Given the description of an element on the screen output the (x, y) to click on. 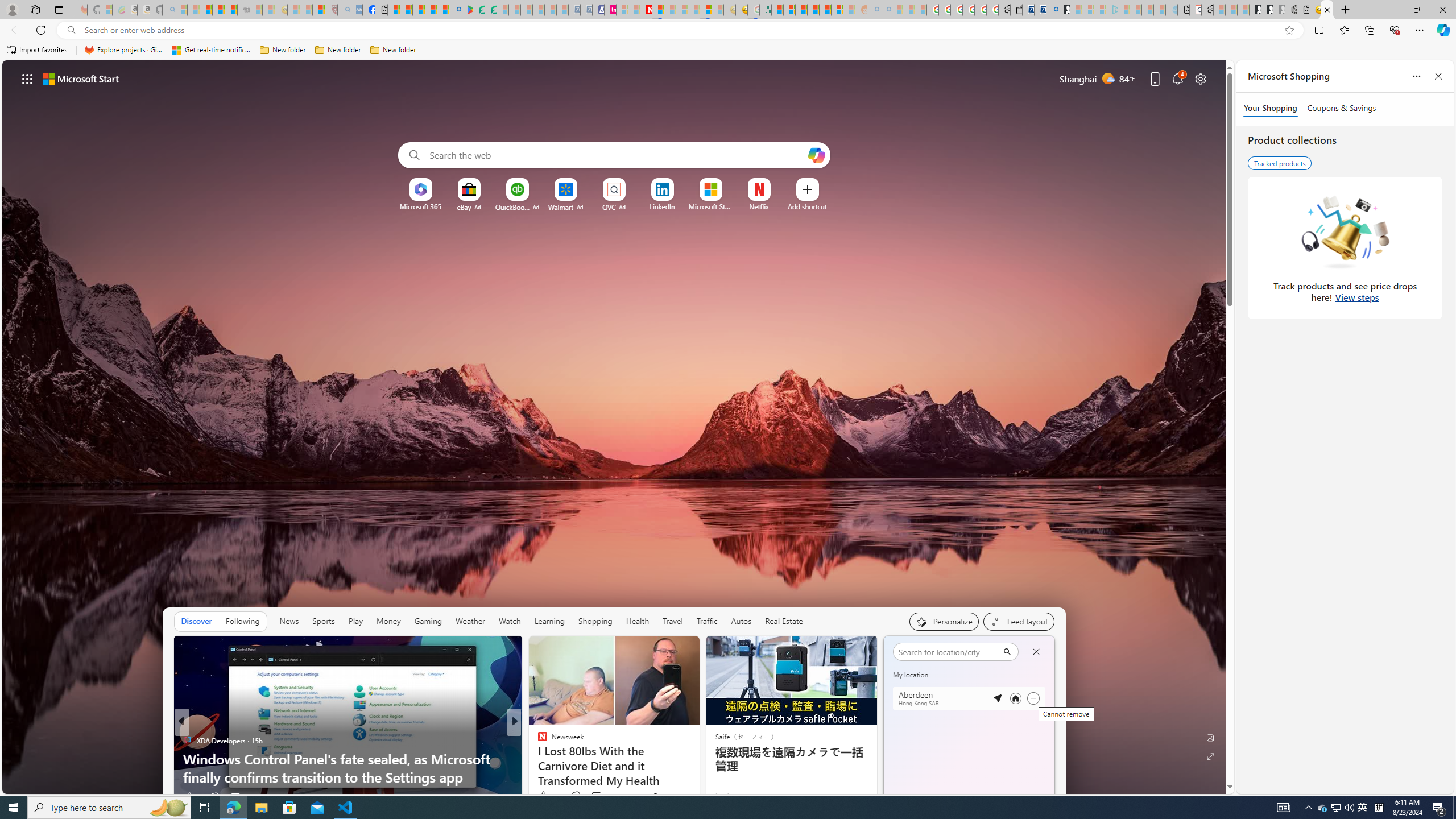
BuzzFeed (537, 740)
View comments 19 Comment (597, 796)
View comments 30 Comment (597, 796)
104 Like (545, 796)
Local - MSN (318, 9)
Enter your search term (617, 155)
Latest Politics News & Archive | Newsweek.com (645, 9)
